Given the description of an element on the screen output the (x, y) to click on. 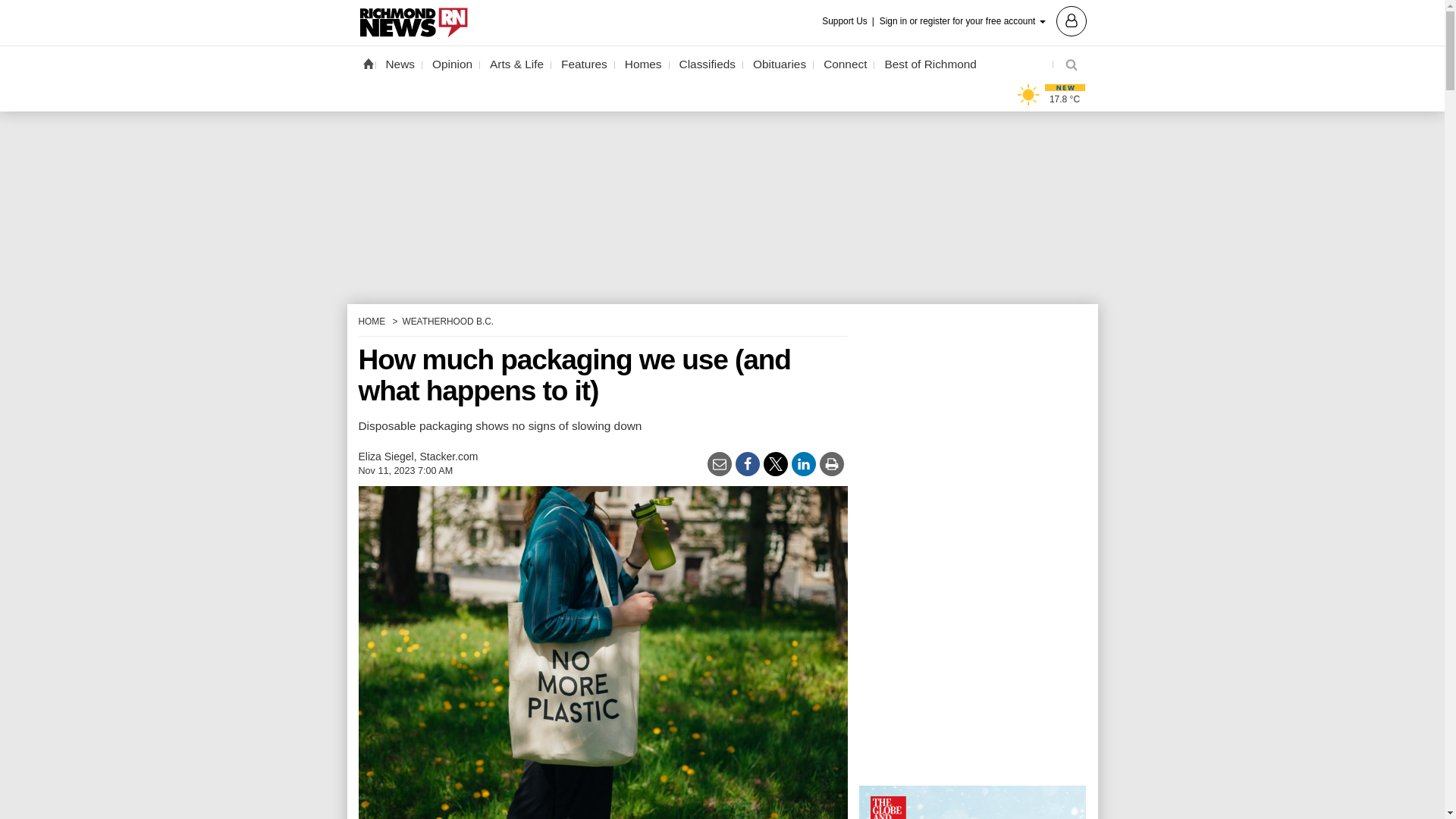
Sign in or register for your free account (982, 20)
Support Us (849, 21)
Opinion (452, 64)
News (400, 64)
Home (367, 63)
3rd party ad content (972, 542)
